Given the description of an element on the screen output the (x, y) to click on. 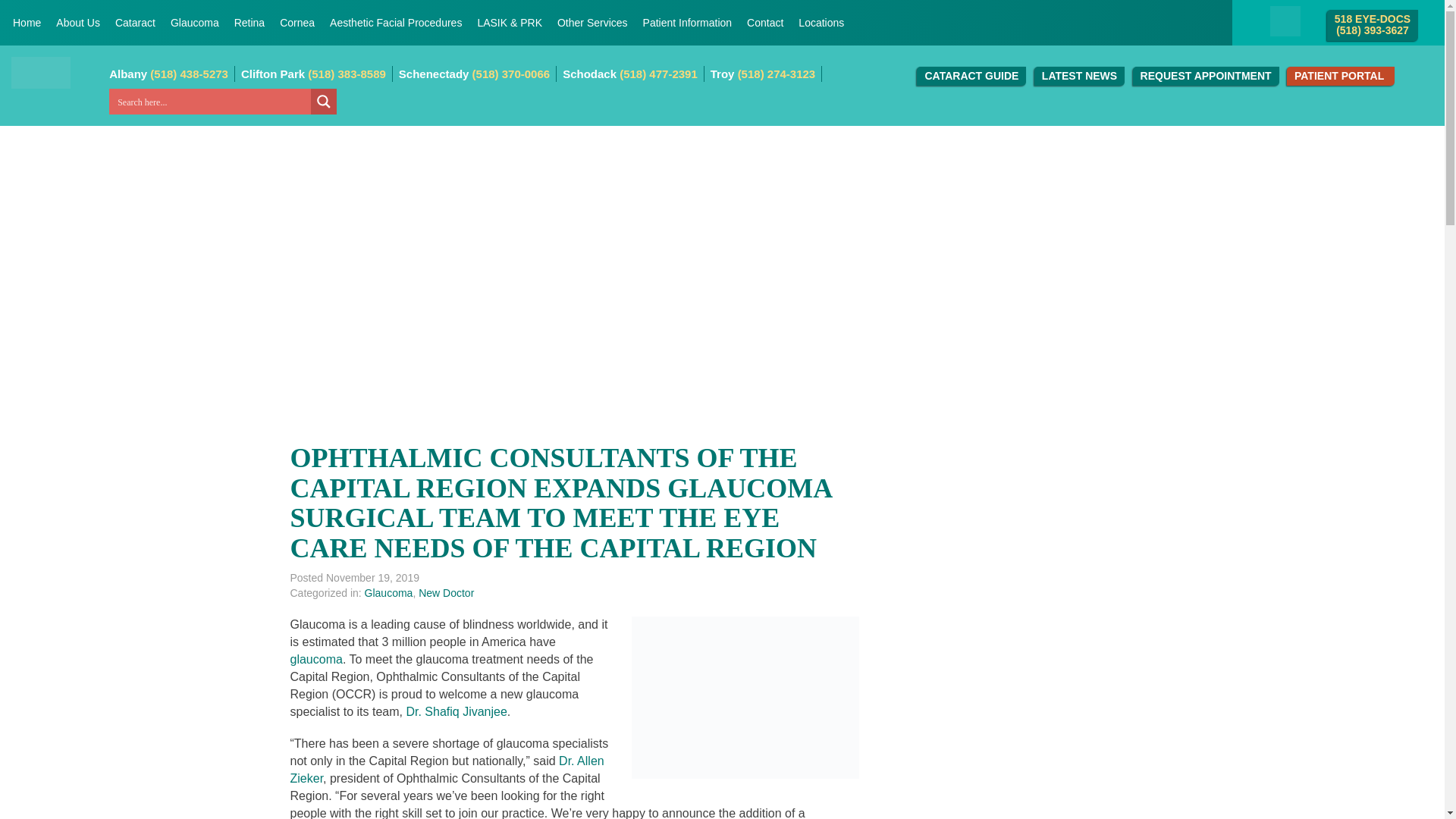
Cataract (135, 22)
About Us (77, 22)
Ophthalmic Consultants (40, 72)
Home (26, 22)
Glaucoma (195, 22)
